Given the description of an element on the screen output the (x, y) to click on. 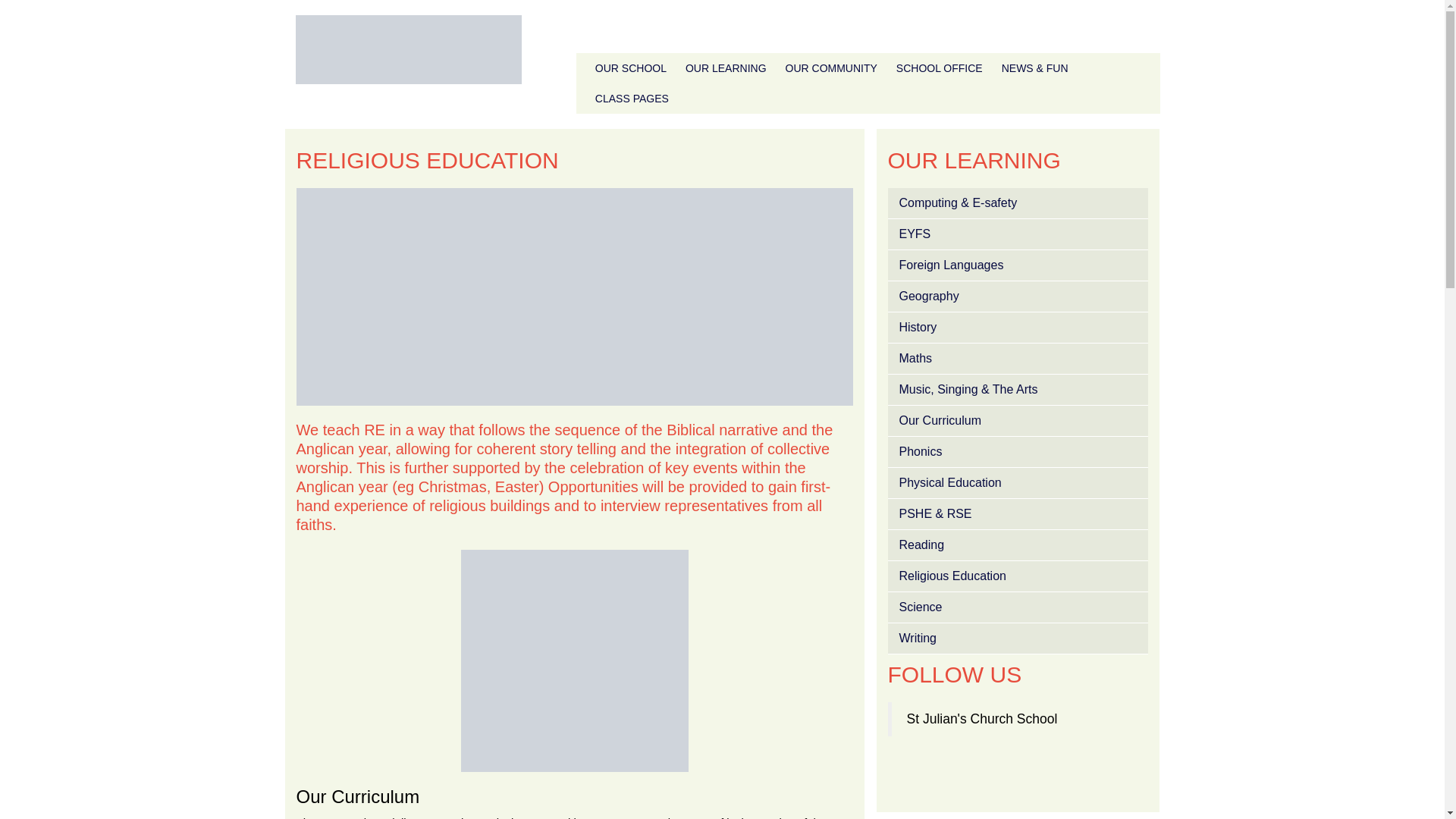
Our School (630, 68)
OUR LEARNING (726, 68)
OUR SCHOOL (630, 68)
OUR COMMUNITY (831, 68)
